Given the description of an element on the screen output the (x, y) to click on. 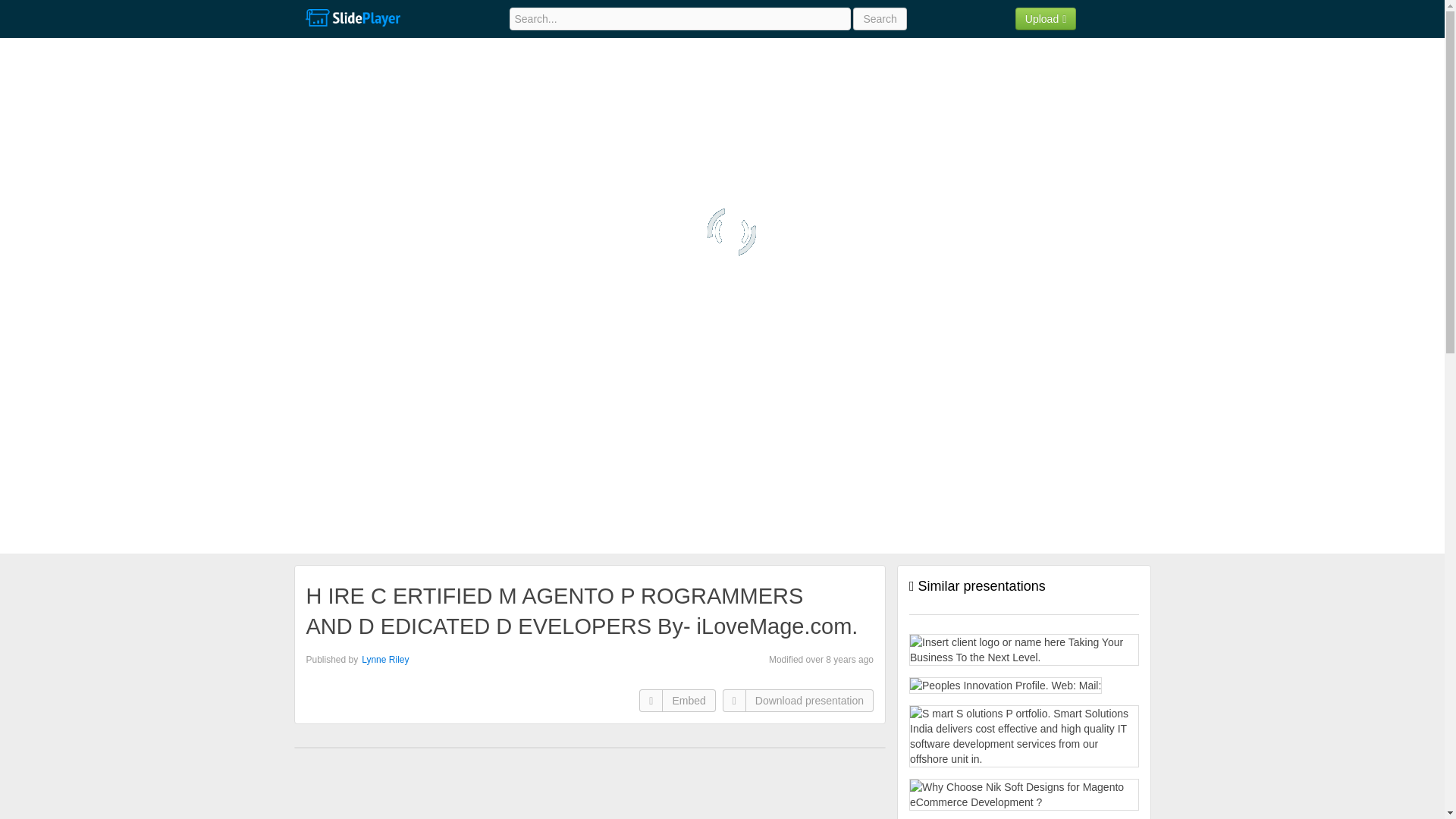
Lynne Riley (385, 659)
SlidePlayer (352, 18)
Upload (1045, 18)
Presentation is loading. Please wait. (731, 232)
Search (879, 18)
